Given the description of an element on the screen output the (x, y) to click on. 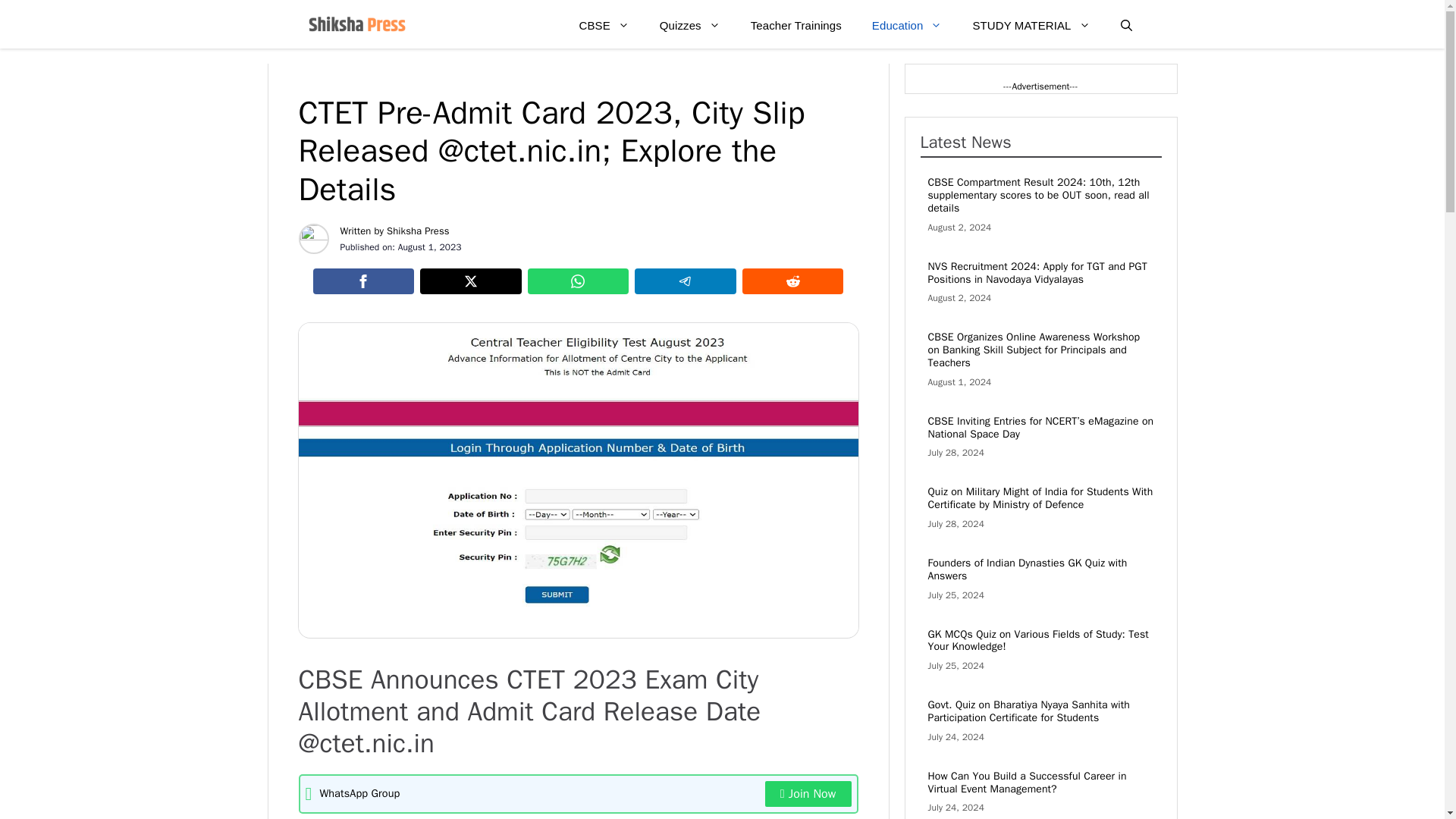
Quizzes (690, 25)
STUDY MATERIAL (1030, 25)
CBSE (604, 25)
Education (907, 25)
Shiksha Press (418, 230)
Teacher Trainings (796, 25)
